Given the description of an element on the screen output the (x, y) to click on. 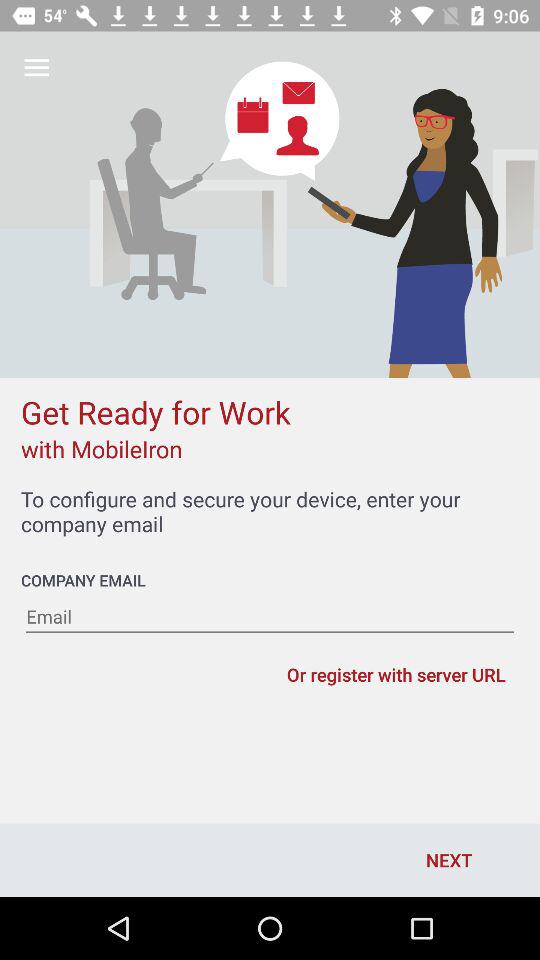
enter email address (270, 617)
